Given the description of an element on the screen output the (x, y) to click on. 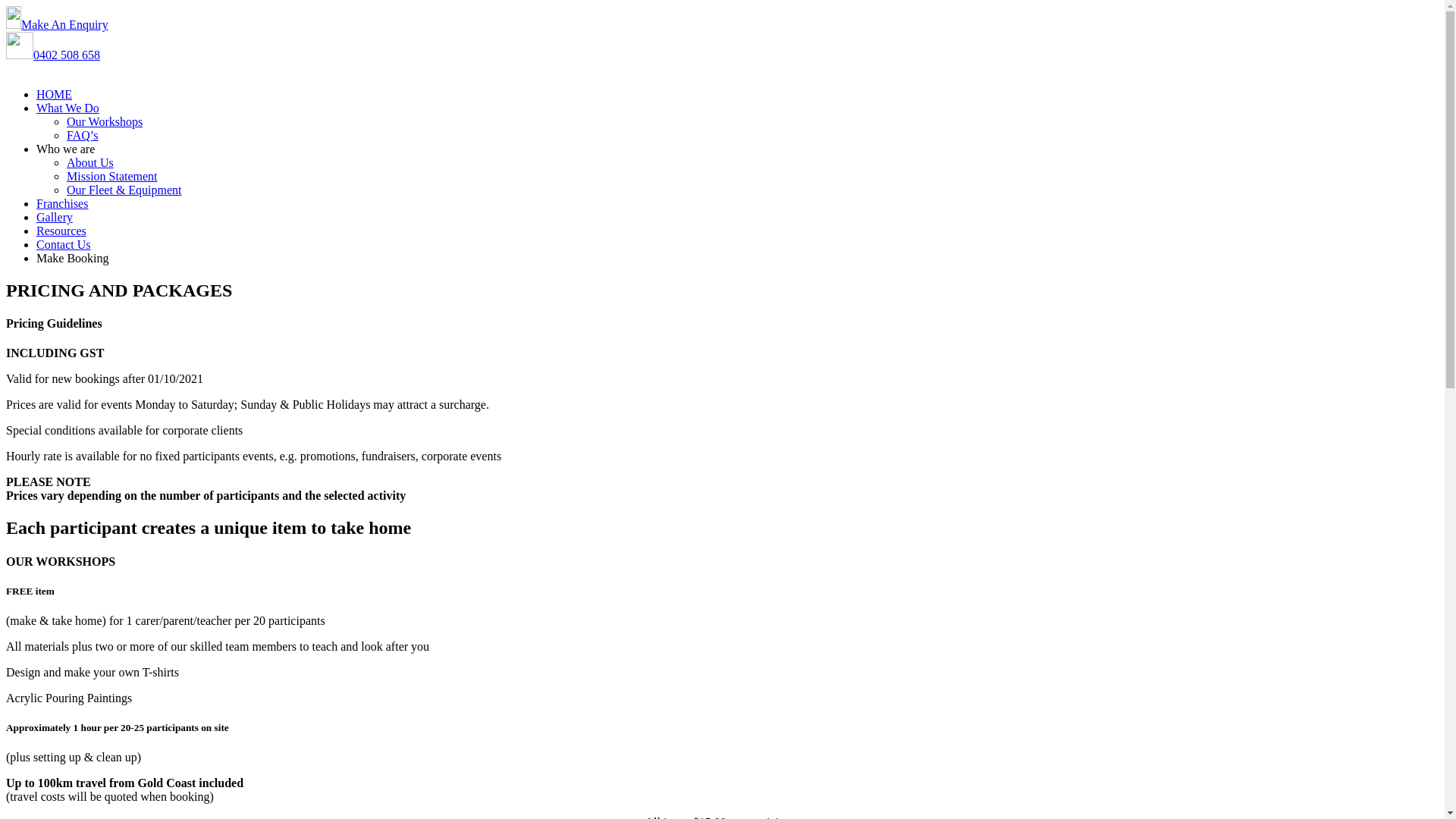
Gallery Element type: text (737, 217)
Resources Element type: text (737, 231)
Make Booking Element type: text (72, 257)
About Us Element type: text (89, 162)
What We Do Element type: text (737, 108)
Contact Us Element type: text (737, 244)
Mission Statement Element type: text (111, 175)
0402 508 658 Element type: text (66, 54)
HOME Element type: text (737, 94)
Our Workshops Element type: text (104, 121)
Franchises Element type: text (737, 203)
Who we are Element type: text (737, 149)
Make An Enquiry Element type: text (57, 24)
Our Fleet & Equipment Element type: text (124, 189)
